Given the description of an element on the screen output the (x, y) to click on. 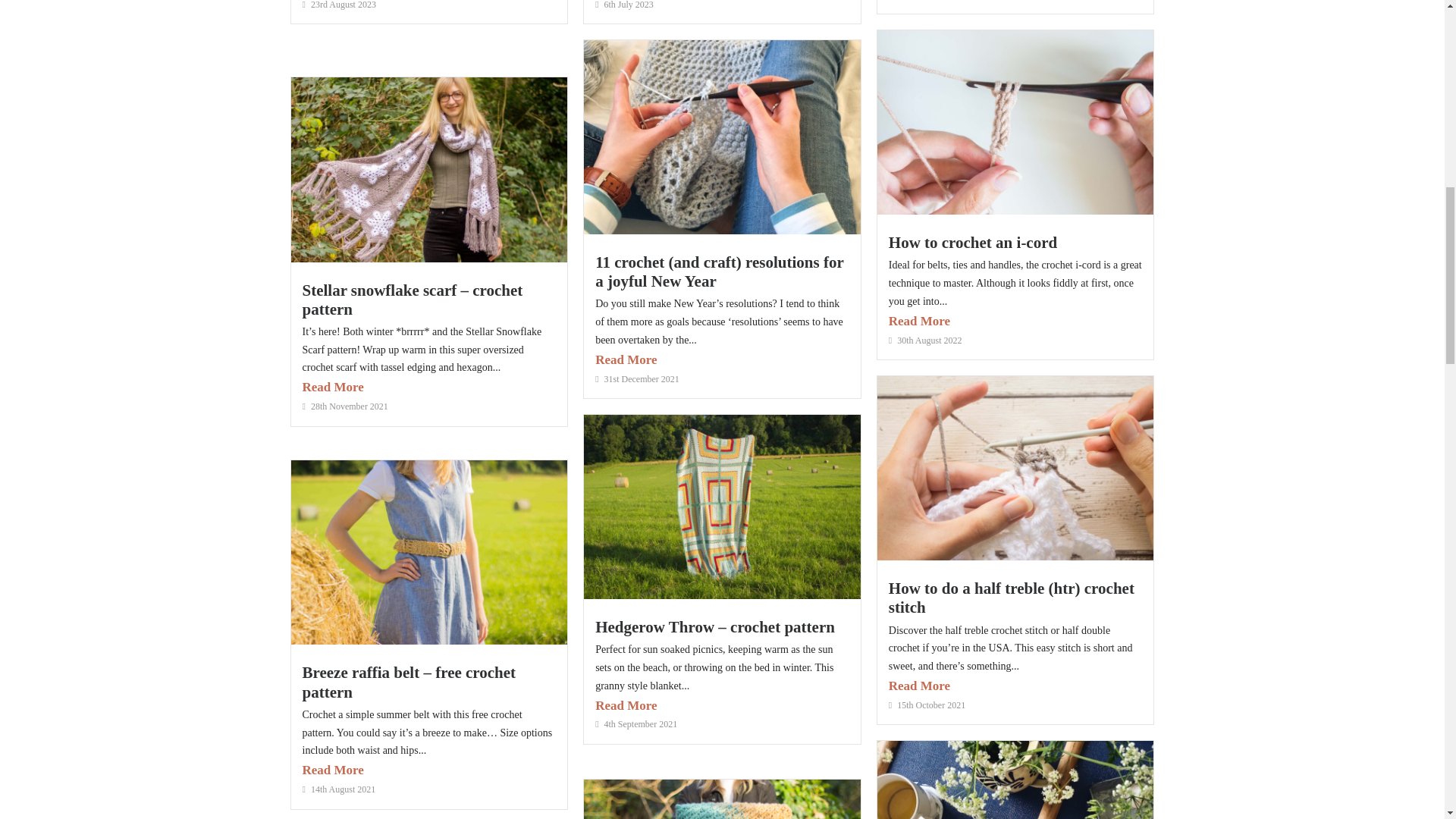
How to crochet an i-cord (972, 242)
Read More (428, 387)
How to crochet an i-cord (972, 242)
Read More (721, 706)
Read More (1015, 686)
Read More (428, 771)
Read More (721, 360)
Read More (1015, 321)
